Given the description of an element on the screen output the (x, y) to click on. 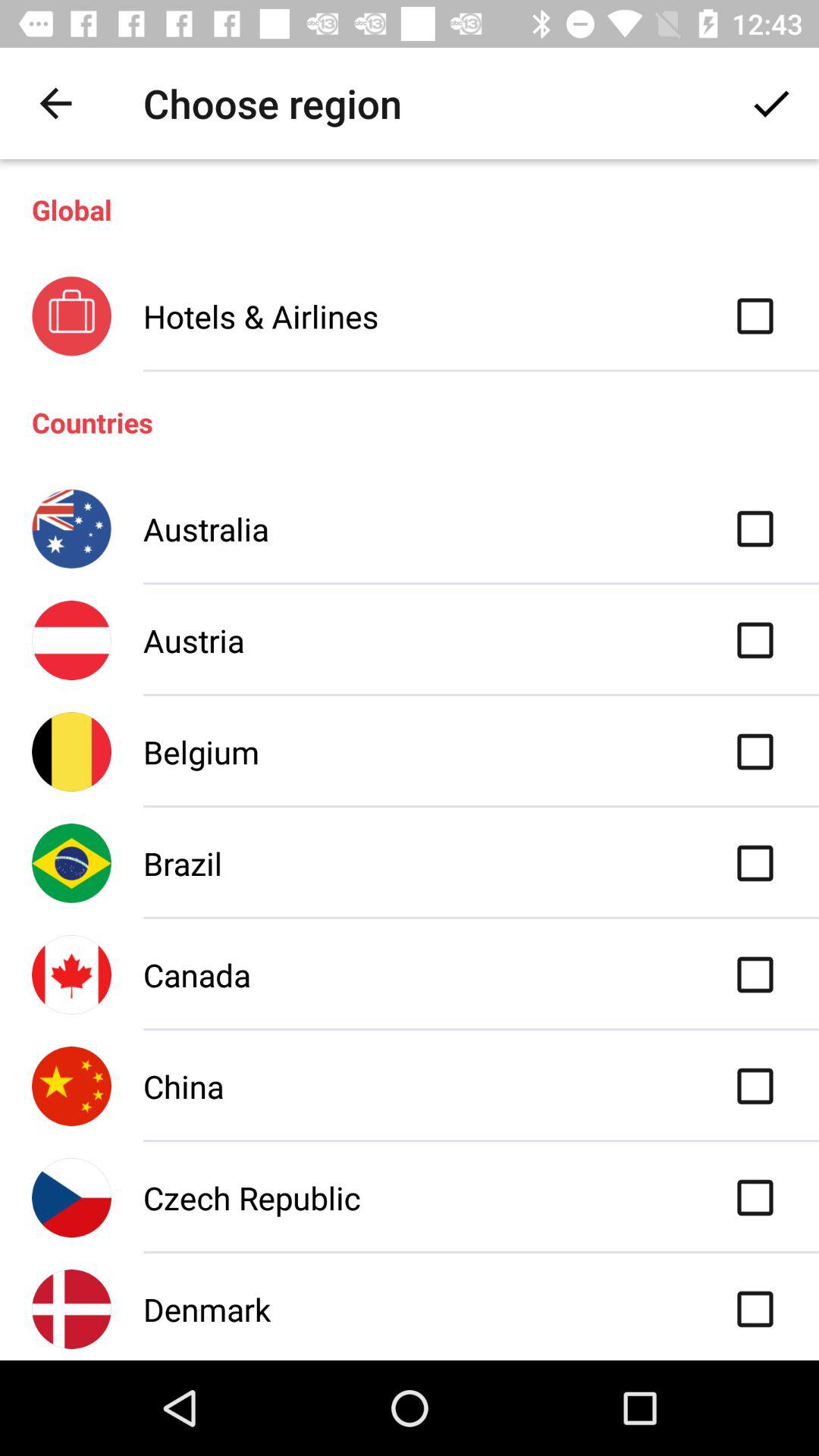
choose the icon above global item (55, 103)
